Given the description of an element on the screen output the (x, y) to click on. 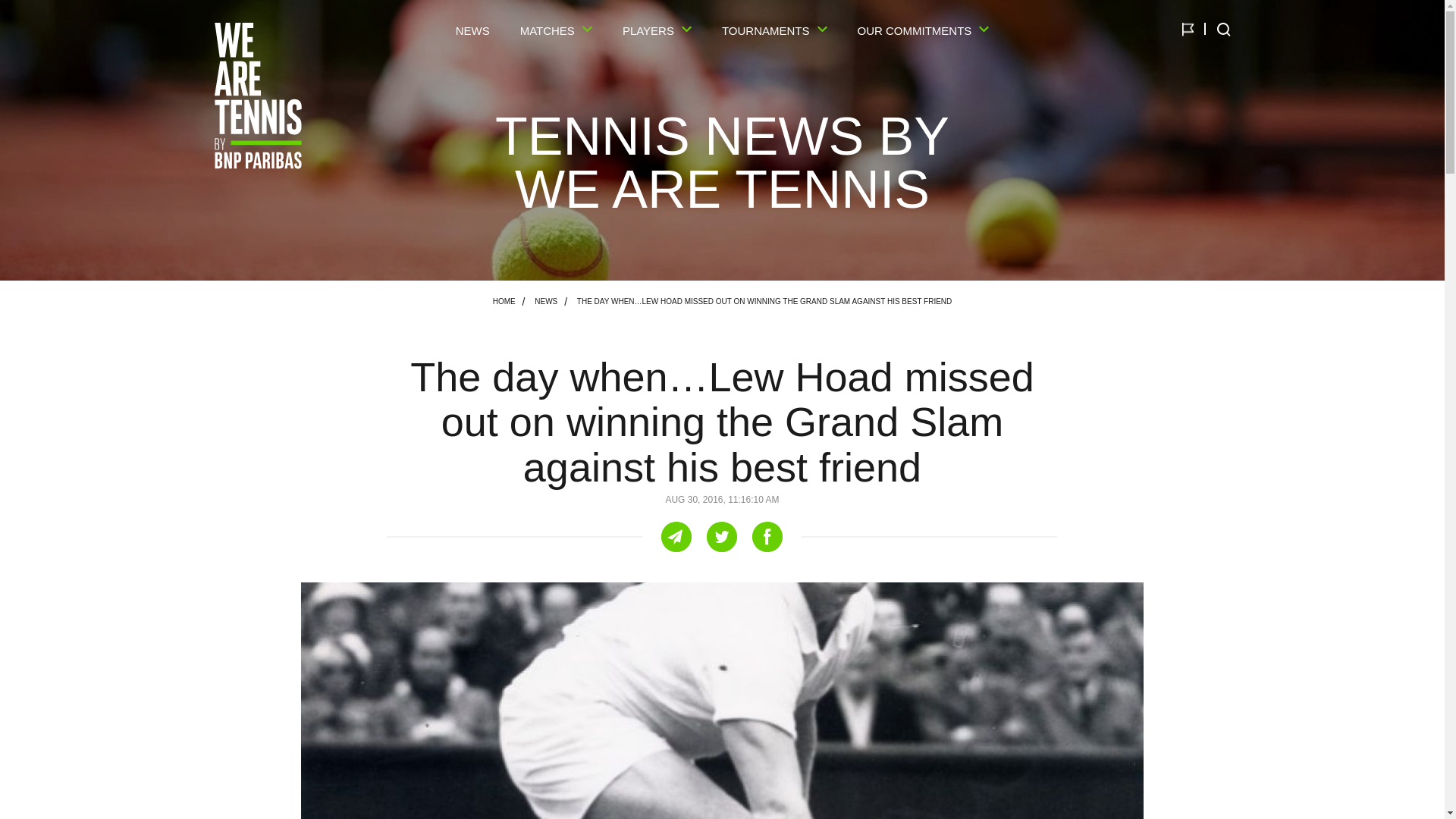
Share on Facebook (767, 536)
MATCHES (556, 33)
PLAYERS (656, 33)
News (545, 300)
SWITCH LANGUAGE (1186, 29)
Home (504, 301)
HOME (504, 300)
NEWS (545, 300)
SEARCH (1222, 29)
OUR COMMITMENTS (923, 33)
